Given the description of an element on the screen output the (x, y) to click on. 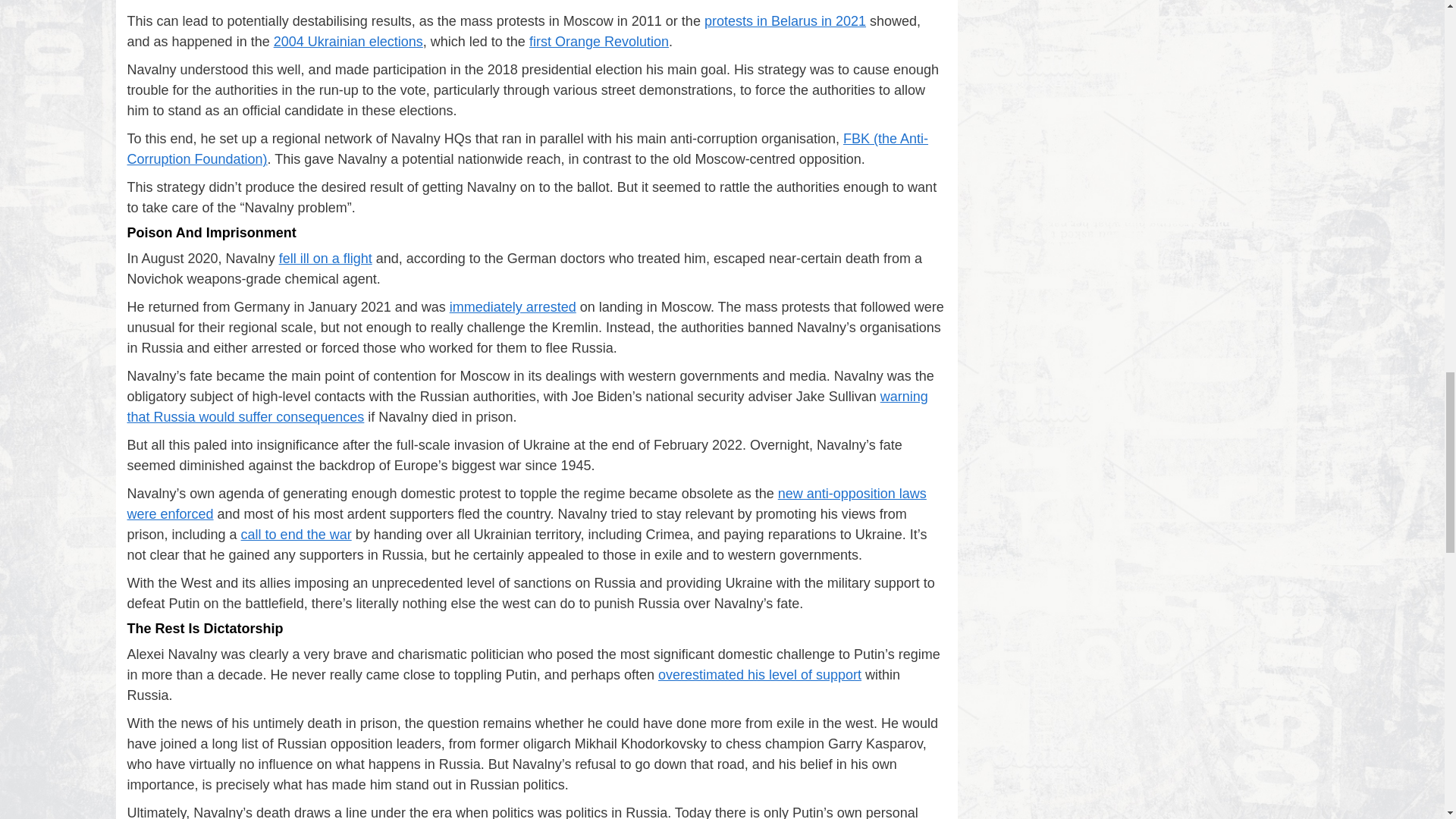
immediately arrested (512, 306)
protests in Belarus in 2021 (785, 20)
2004 Ukrainian elections (348, 41)
first Orange Revolution (598, 41)
warning that Russia would suffer consequences (528, 407)
call to end the war (296, 534)
fell ill on a flight (325, 258)
new anti-opposition laws were enforced (527, 503)
overestimated his level of support (759, 674)
